Given the description of an element on the screen output the (x, y) to click on. 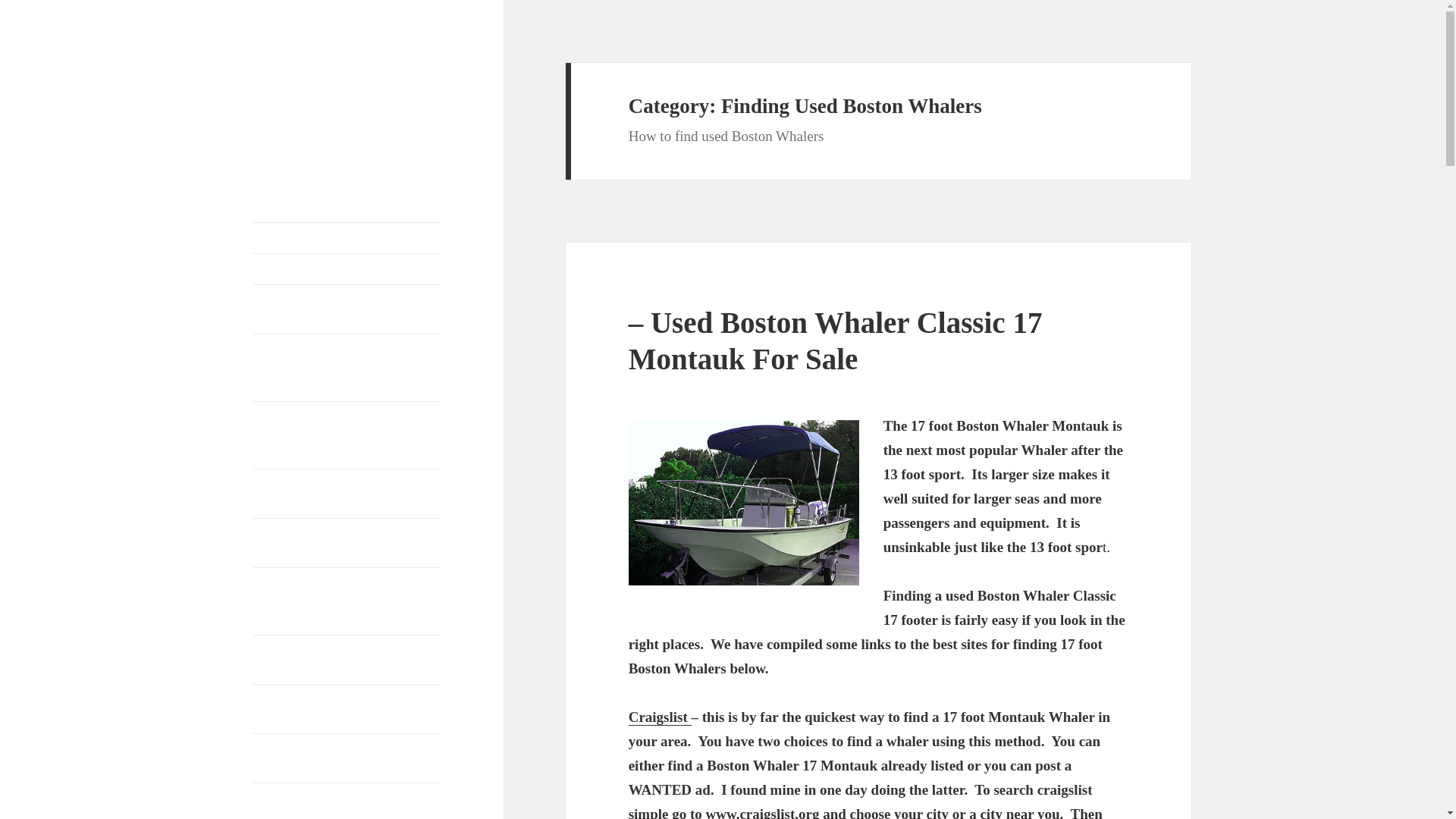
Craigslist (659, 717)
Main (347, 237)
Used Boston Whaler 13 For Sale (659, 717)
Privacy Policy (347, 268)
boston whaler 17 for sale montauk (743, 502)
